Given the description of an element on the screen output the (x, y) to click on. 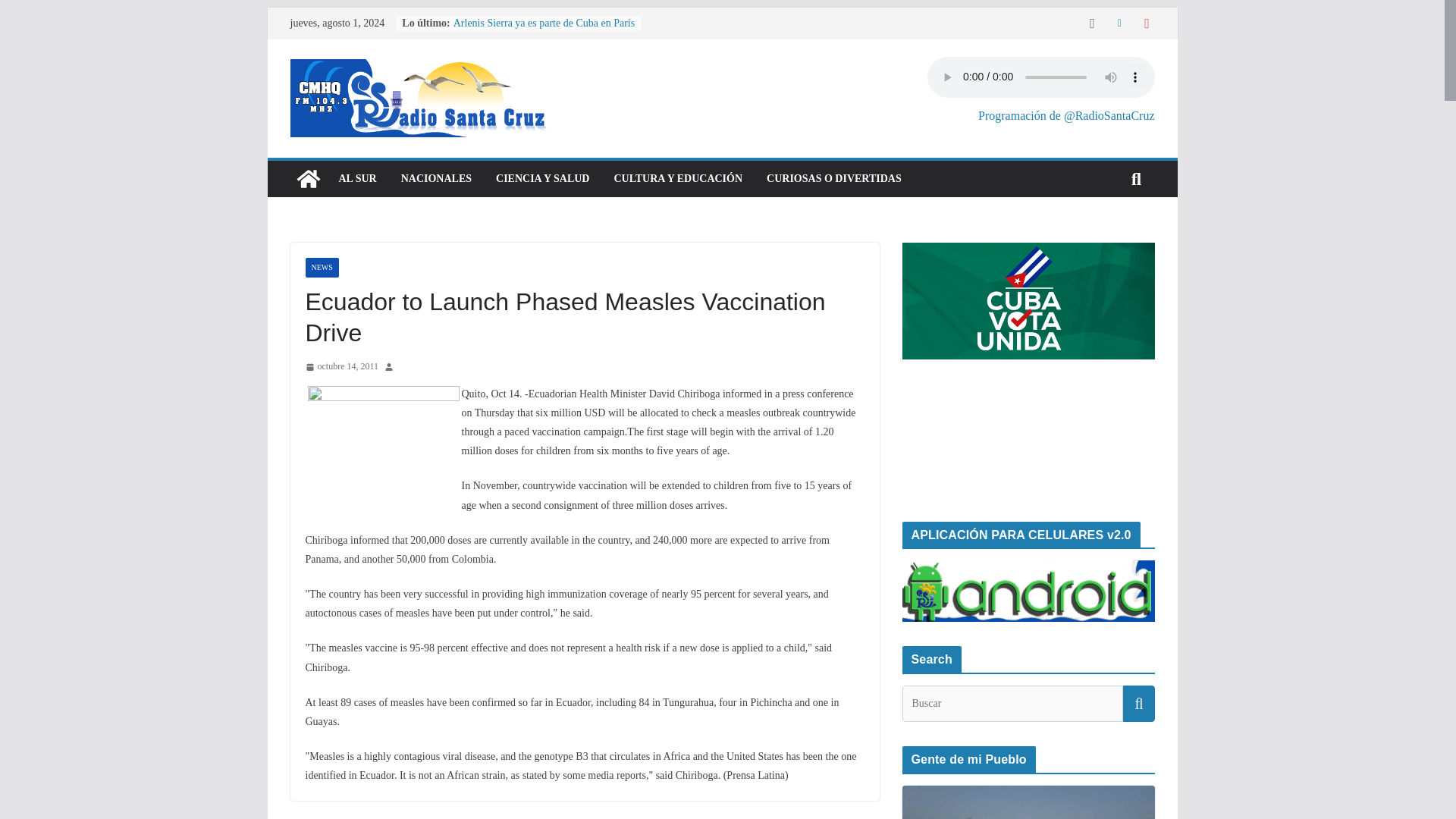
CURIOSAS O DIVERTIDAS (834, 178)
12:00 am (341, 366)
NACIONALES (436, 178)
CIENCIA Y SALUD (542, 178)
octubre 14, 2011 (341, 366)
NEWS (320, 267)
Radio Santa Cruz (307, 178)
AL SUR (356, 178)
